Given the description of an element on the screen output the (x, y) to click on. 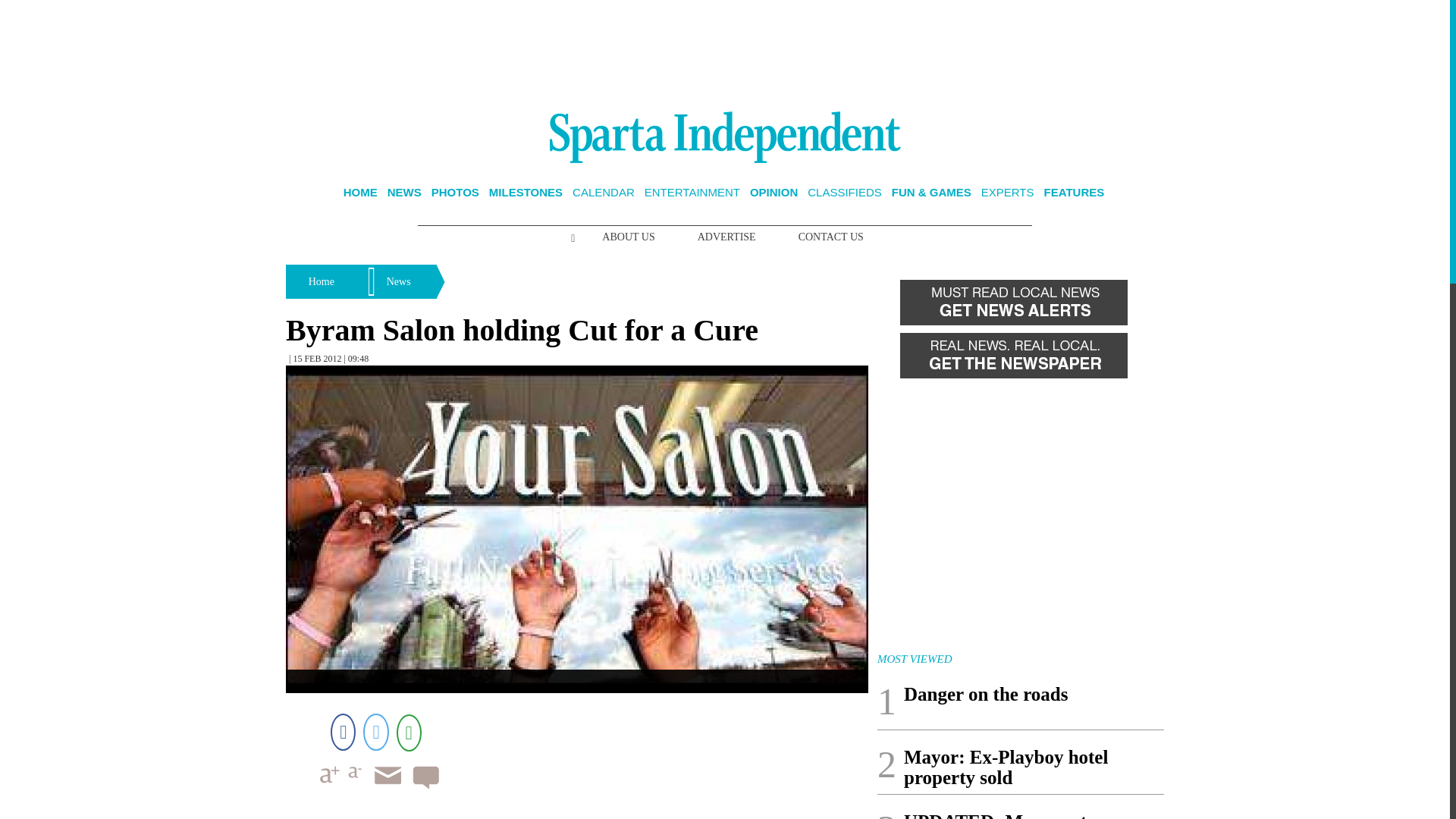
NEWS (404, 192)
ENTERTAINMENT (692, 192)
FEATURES (1074, 192)
EXPERTS (1007, 192)
HOME (360, 192)
PHOTOS (454, 192)
CALENDAR (603, 192)
OPINION (773, 192)
3rd party ad content (724, 49)
CLASSIFIEDS (845, 192)
MILESTONES (525, 192)
